Given the description of an element on the screen output the (x, y) to click on. 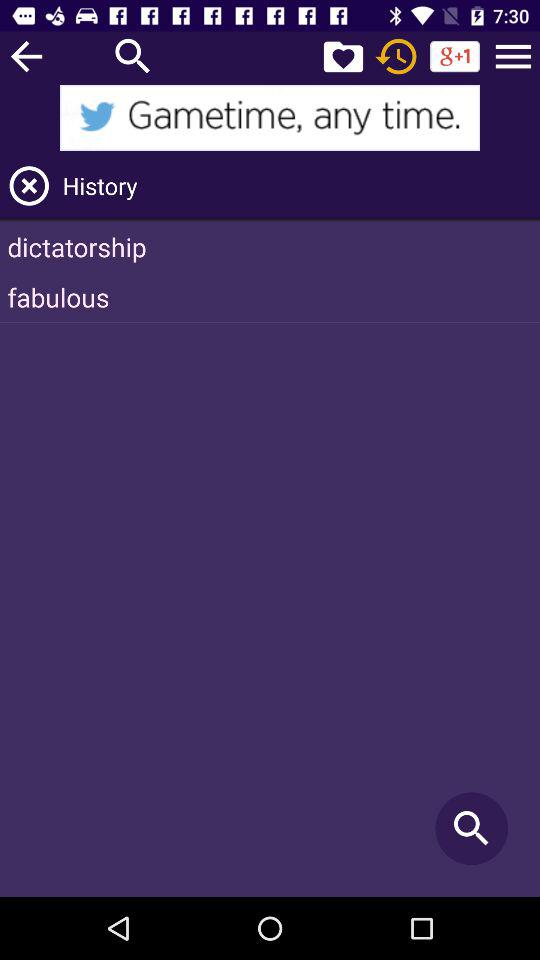
open the fabulous item (270, 297)
